Given the description of an element on the screen output the (x, y) to click on. 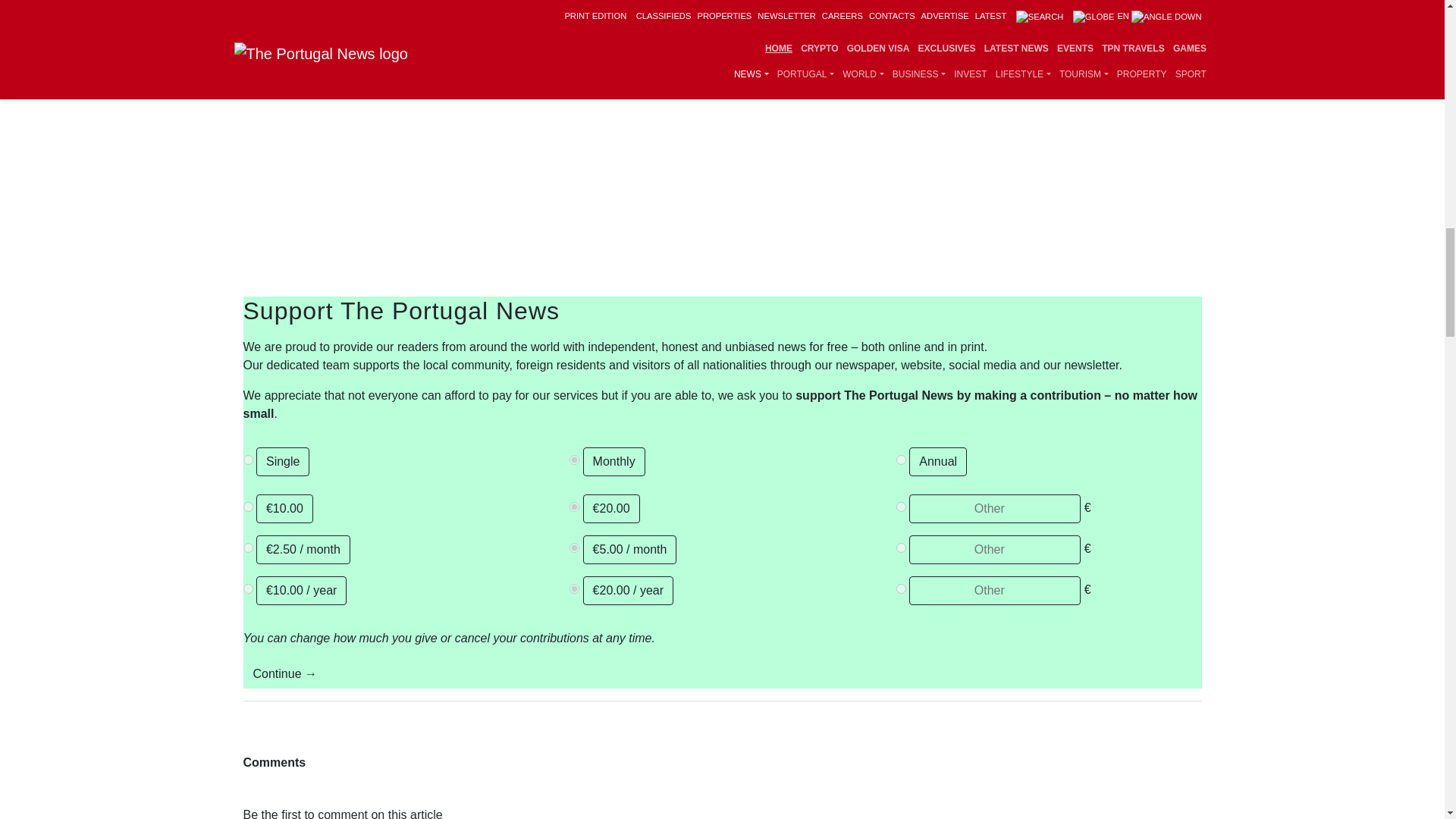
5 (574, 547)
20 (574, 588)
10 (247, 588)
10 (247, 506)
2.5 (247, 547)
P-18662245734186221MGVD6SI (900, 460)
P-6T2758016F920900CMGGQYMQ (574, 460)
single (247, 460)
20 (574, 506)
